Given the description of an element on the screen output the (x, y) to click on. 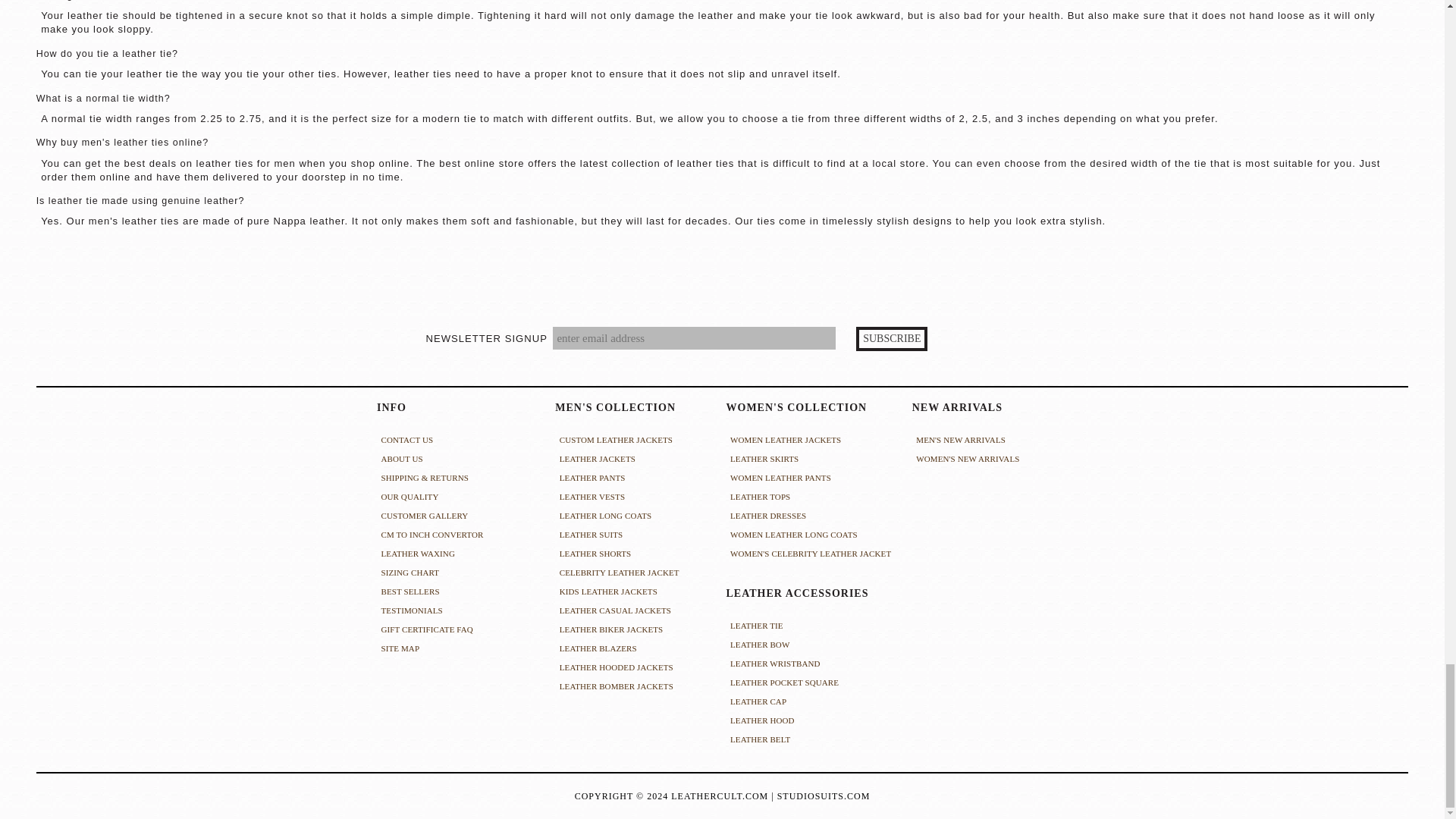
Subscribe (891, 338)
